Given the description of an element on the screen output the (x, y) to click on. 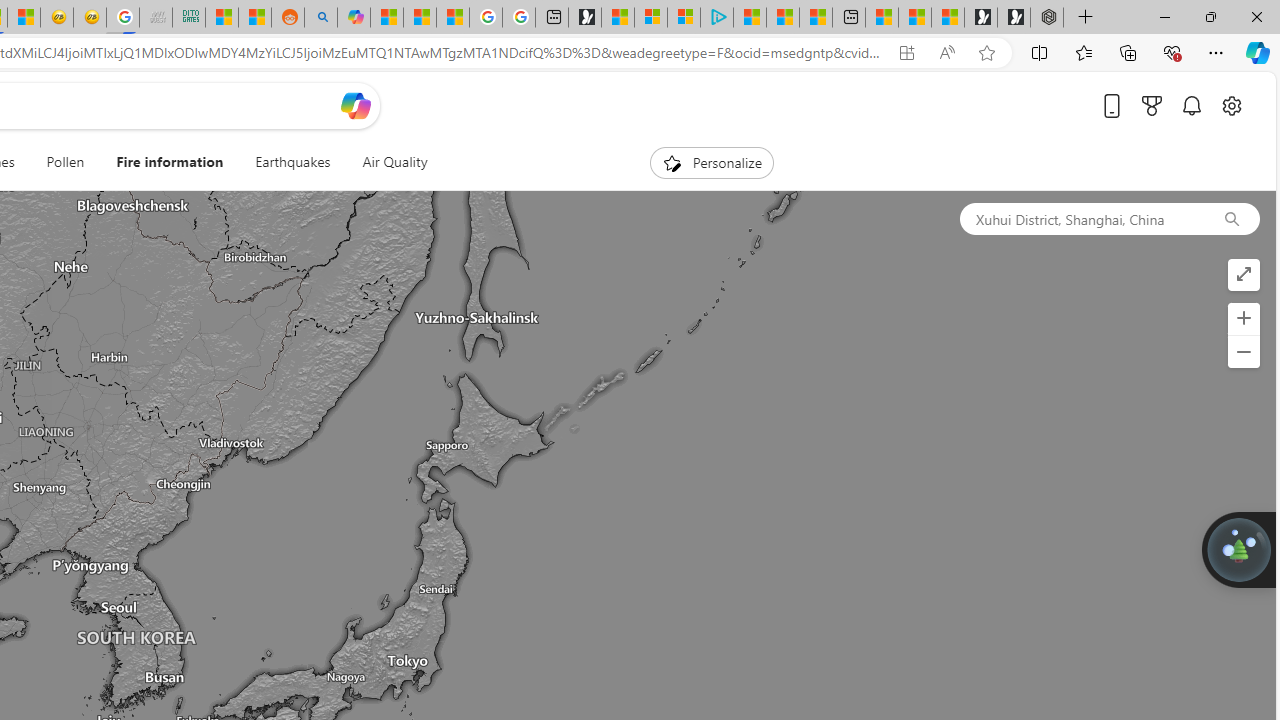
Zoom in (1243, 318)
Air Quality (394, 162)
Earthquakes (292, 162)
